Given the description of an element on the screen output the (x, y) to click on. 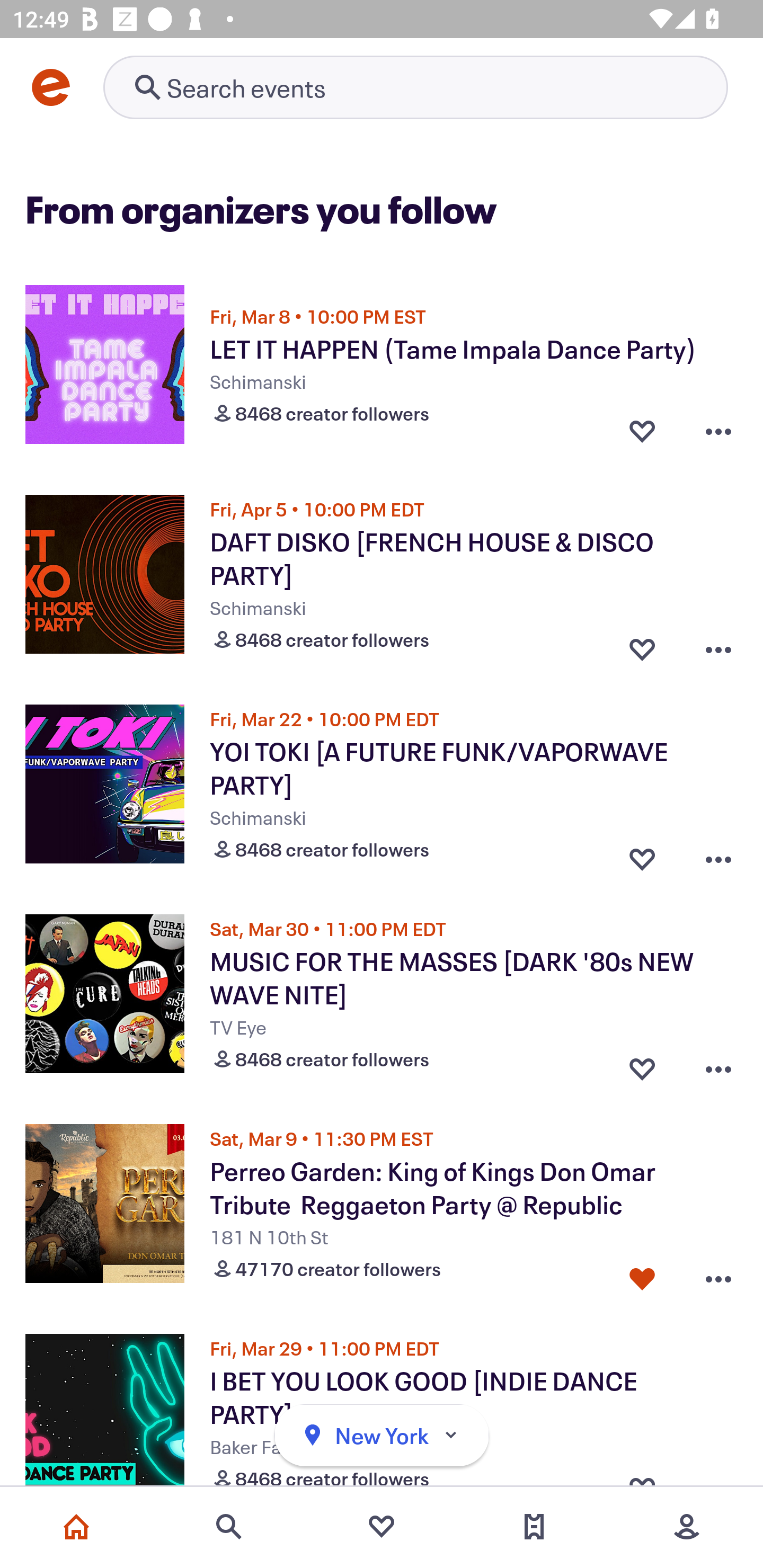
Retry's image Search events (415, 86)
Favorite button (642, 430)
Overflow menu button (718, 430)
Favorite button (642, 644)
Overflow menu button (718, 644)
Favorite button (642, 855)
Overflow menu button (718, 855)
Favorite button (642, 1065)
Overflow menu button (718, 1065)
Favorite button (642, 1274)
Overflow menu button (718, 1274)
New York (381, 1435)
Home (76, 1526)
Search events (228, 1526)
Favorites (381, 1526)
Tickets (533, 1526)
More (686, 1526)
